Given the description of an element on the screen output the (x, y) to click on. 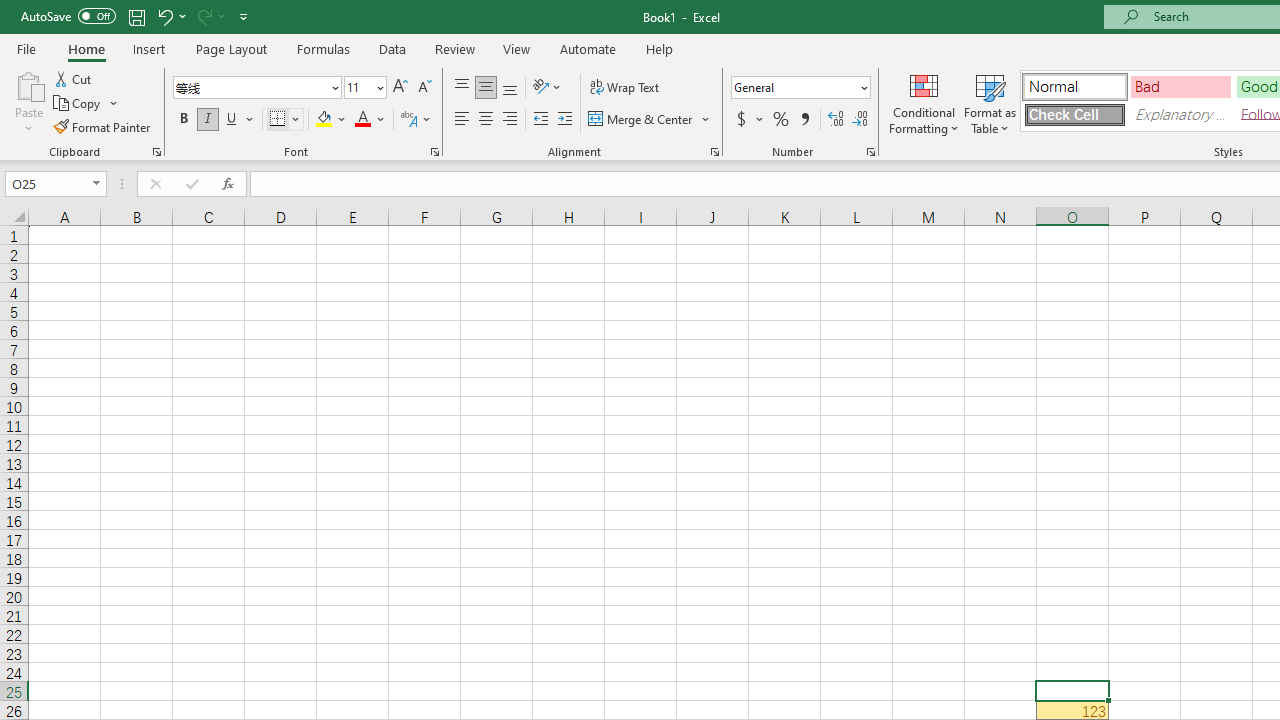
Fill Color (331, 119)
Bad (1180, 86)
Italic (207, 119)
Underline (239, 119)
Increase Decimal (836, 119)
Copy (85, 103)
Bottom Border (278, 119)
Accounting Number Format (749, 119)
Percent Style (781, 119)
Bottom Align (509, 87)
Number Format (800, 87)
Format Cell Alignment (714, 151)
